Given the description of an element on the screen output the (x, y) to click on. 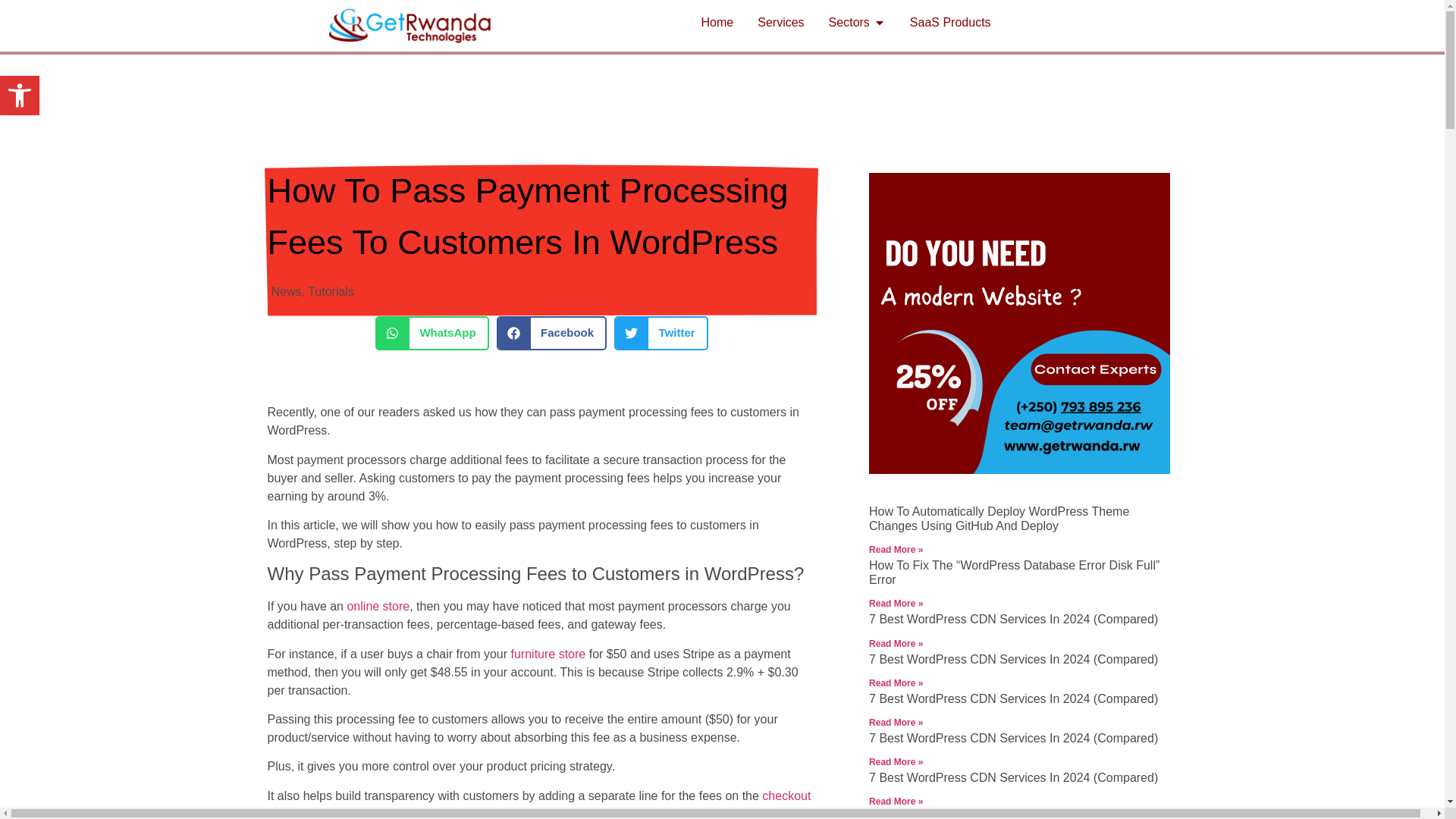
online store (377, 605)
Accessibility Tools (19, 95)
Services (19, 95)
Accessibility Tools (780, 22)
Home (19, 95)
furniture store (717, 22)
Tutorials (548, 653)
checkout page (330, 291)
News (538, 804)
SaaS Products (285, 291)
